Given the description of an element on the screen output the (x, y) to click on. 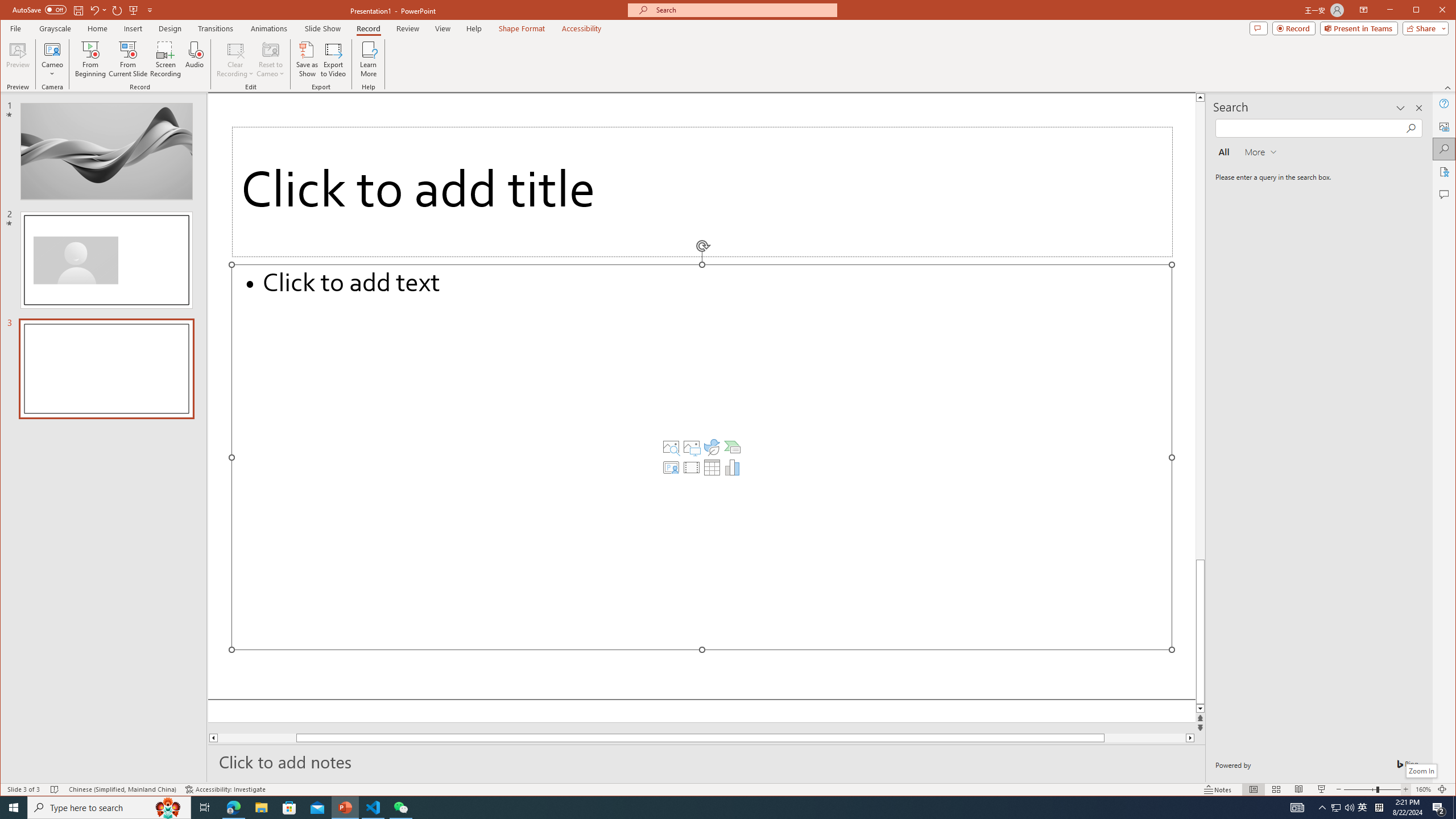
Animations (269, 28)
Cameo (52, 48)
Notes  (1217, 789)
Shape Format (521, 28)
Close (1444, 11)
Class: MsoCommandBar (728, 789)
WeChat - 1 running window (400, 807)
Save (77, 9)
Search highlights icon opens search home window (167, 807)
Insert Video (691, 467)
Home (97, 28)
Ribbon Display Options (1364, 9)
